Given the description of an element on the screen output the (x, y) to click on. 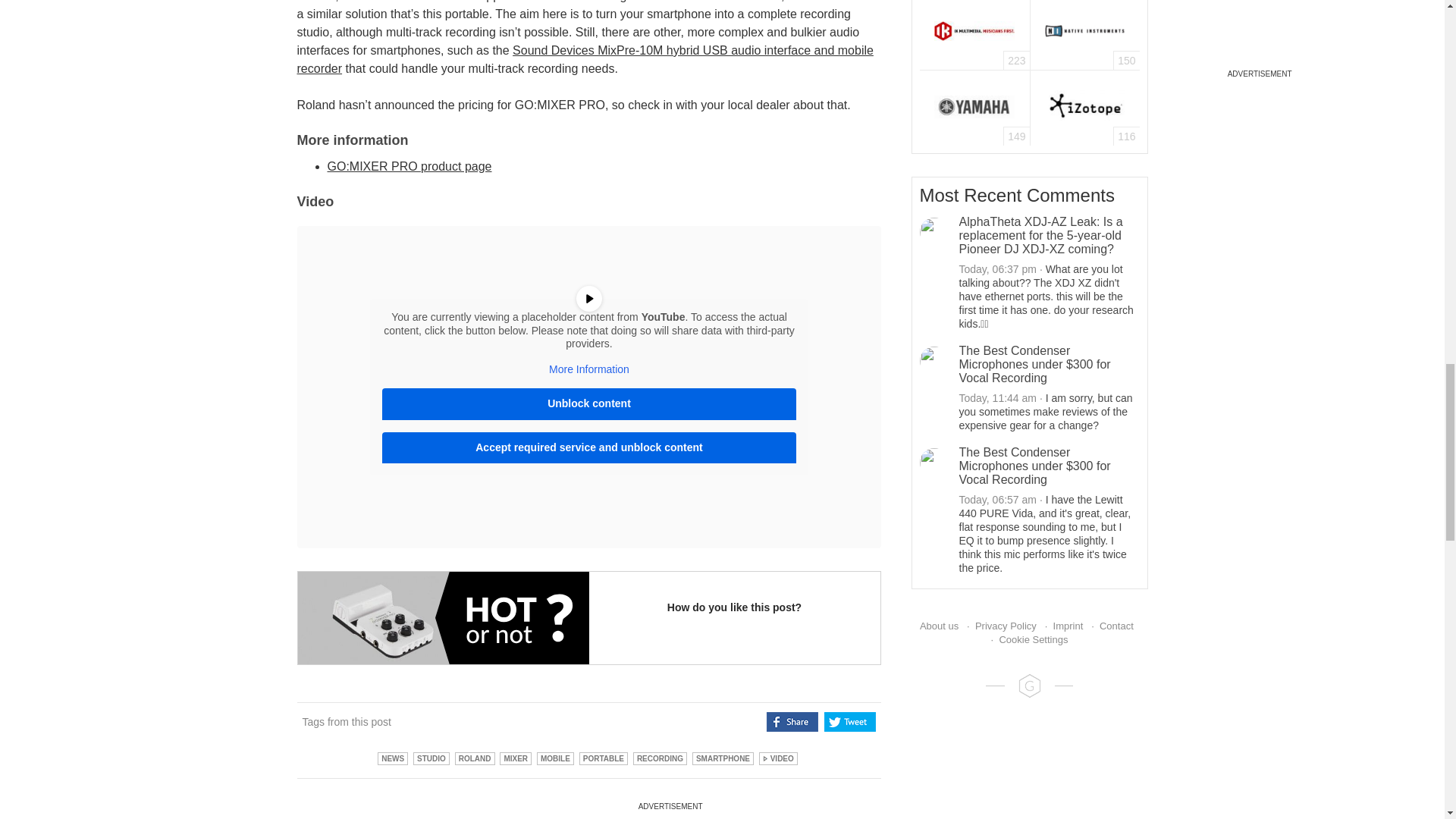
Share on Facebook (791, 721)
View all Posts in Studio (431, 758)
View all Posts in portable (603, 758)
View all Posts in Recording (660, 758)
Share on Twitter (850, 721)
View all Posts in mobile (555, 758)
View all Posts in mixer (515, 758)
View all Posts in smartphone (723, 758)
View all Posts in Roland (474, 758)
View all Posts in Video (777, 758)
